Given the description of an element on the screen output the (x, y) to click on. 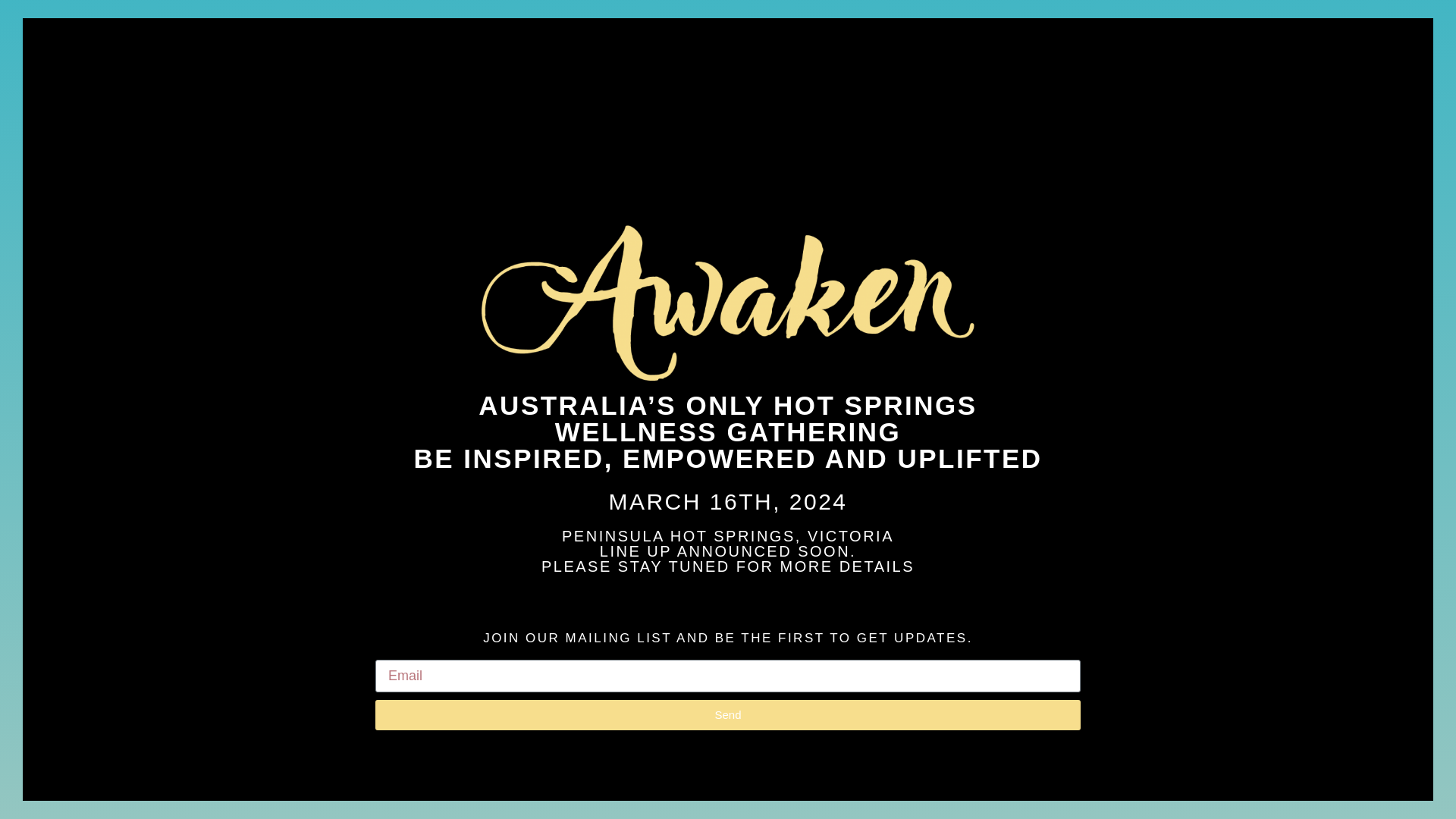
Awaken festival Element type: hover (727, 302)
Send Element type: text (727, 714)
